Given the description of an element on the screen output the (x, y) to click on. 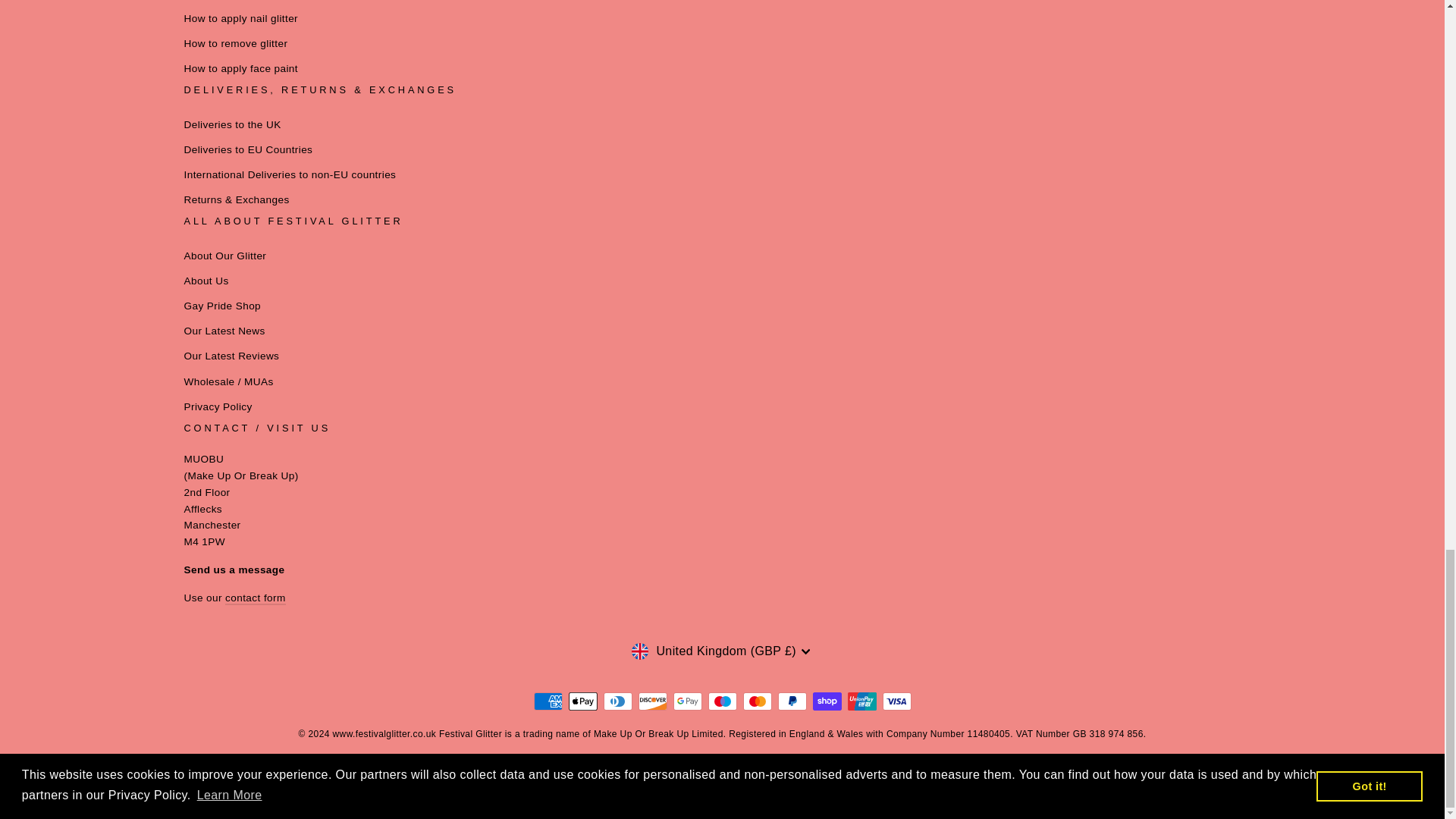
Contact Us (255, 598)
Discover (652, 701)
Google Pay (686, 701)
Diners Club (617, 701)
Maestro (721, 701)
American Express (548, 701)
Apple Pay (582, 701)
